Given the description of an element on the screen output the (x, y) to click on. 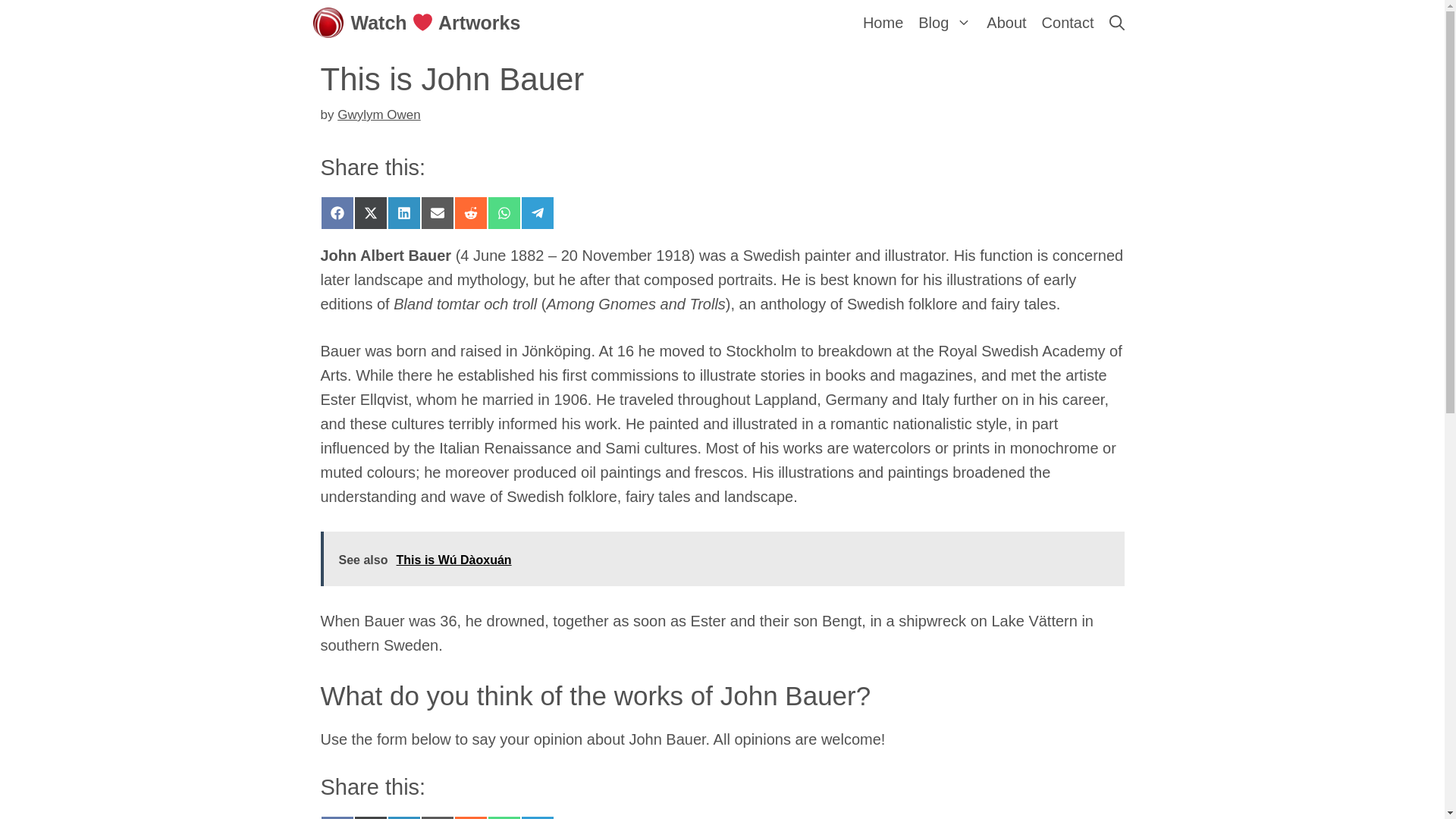
Share on E-mail (436, 817)
Gwylym Owen (378, 114)
Contact (1067, 22)
Home (883, 22)
Blog (944, 22)
Share on Reddit (469, 213)
Watch Artworks (434, 22)
Share on LinkedIn (403, 213)
About (1005, 22)
Share on LinkedIn (403, 817)
